Given the description of an element on the screen output the (x, y) to click on. 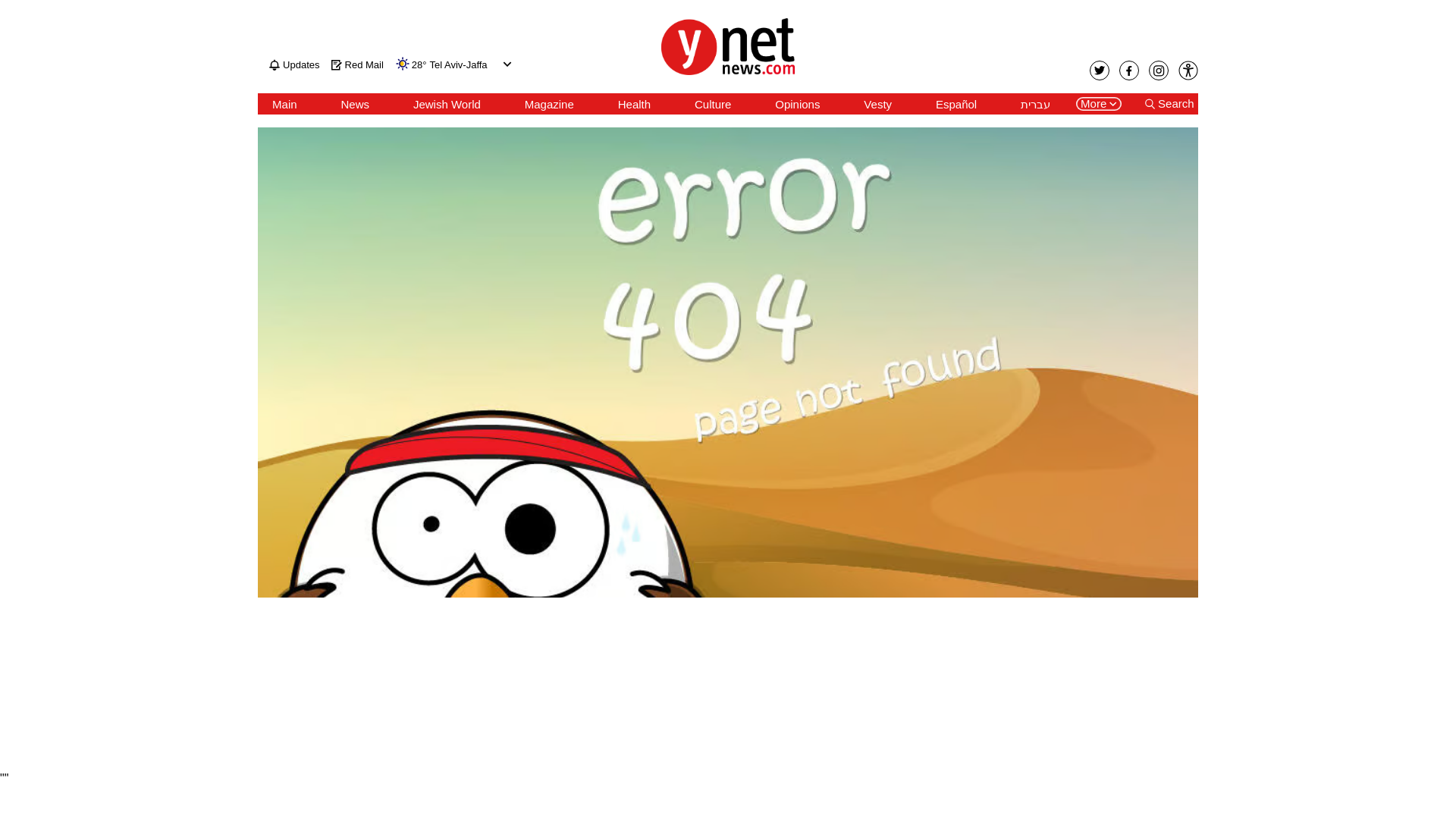
Red Mail (357, 64)
News (354, 103)
Updates (293, 64)
Health (633, 103)
Main (284, 103)
Culture (712, 103)
Tel Aviv-Jaffa (457, 65)
Magazine (548, 103)
Opinions (796, 103)
Jewish World (446, 103)
Vesty (877, 103)
